Given the description of an element on the screen output the (x, y) to click on. 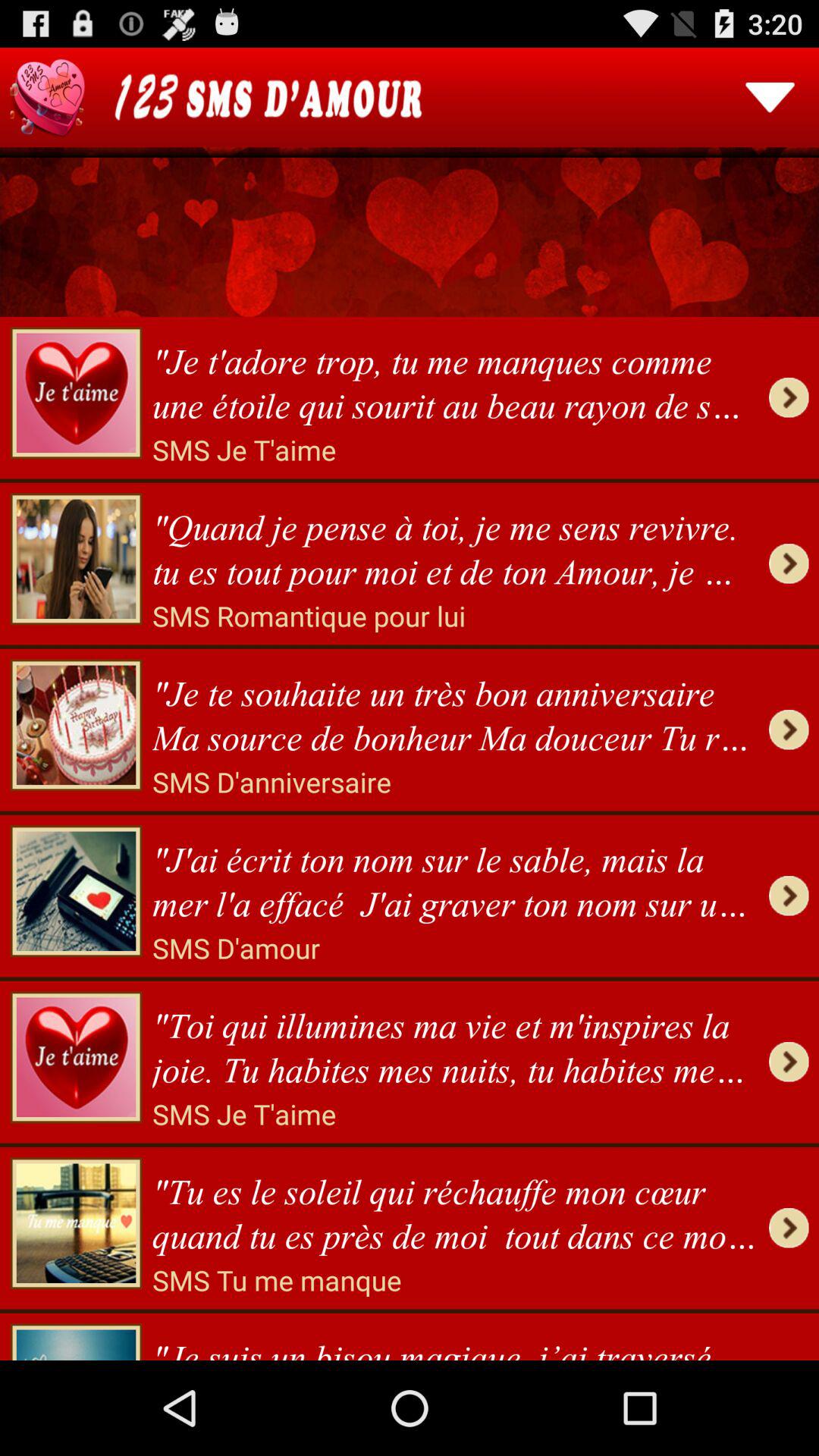
dropdown icon (770, 97)
